Given the description of an element on the screen output the (x, y) to click on. 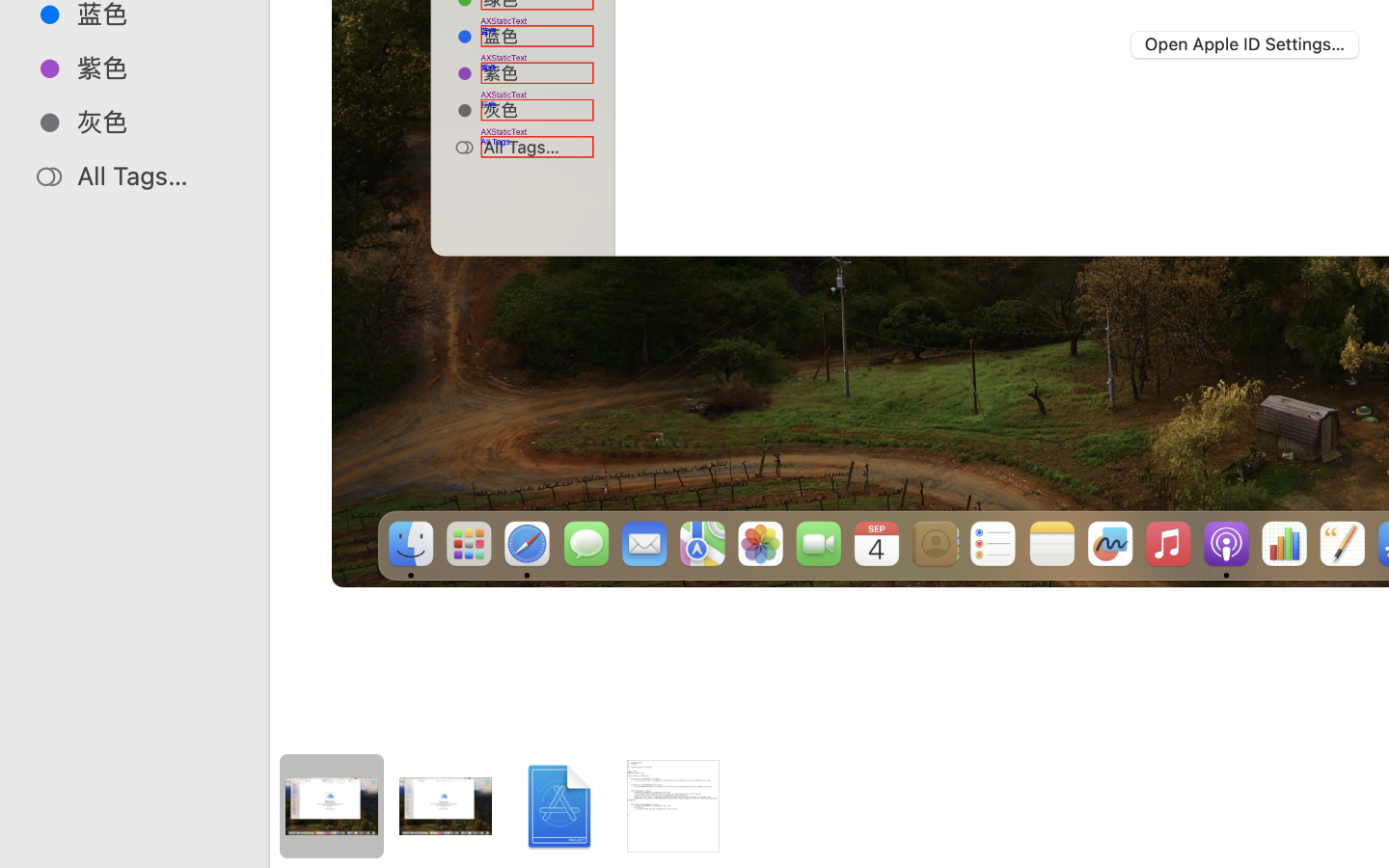
Tags… Element type: AXStaticText (41, 852)
0 Element type: AXRadioButton (23, 846)
紫色 Element type: AXStaticText (155, 67)
All Tags… Element type: AXStaticText (155, 175)
灰色 Element type: AXStaticText (155, 121)
